Given the description of an element on the screen output the (x, y) to click on. 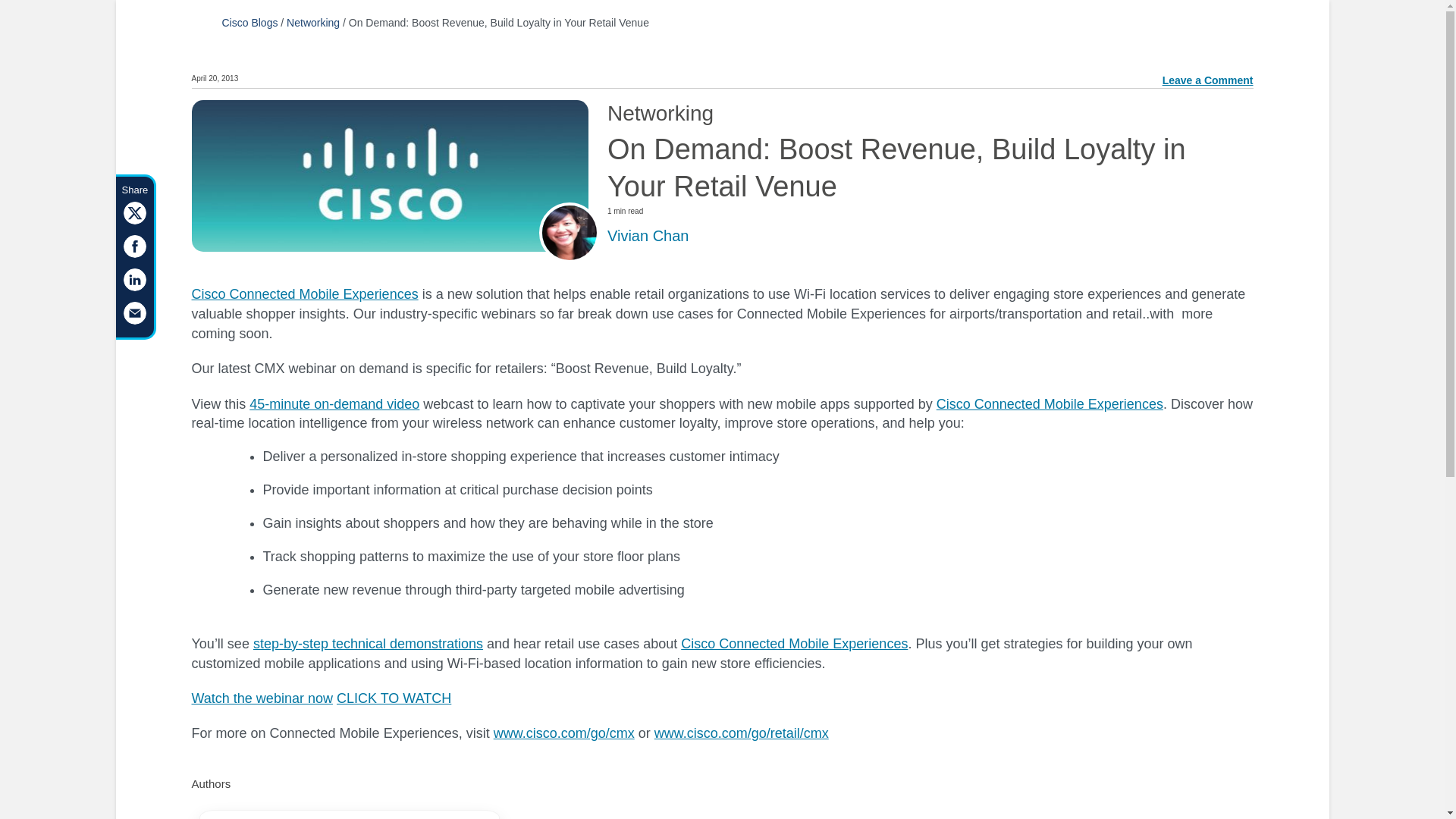
Cisco Connected Mobile Experiences (303, 294)
CLICK TO WATCH (393, 698)
Vivian Chan (647, 235)
Watch the webinar now (260, 698)
45-minute on-demand video (333, 403)
Cisco Connected Mobile Experiences (1049, 403)
Cisco Blogs (249, 22)
step-by-step technical demonstrations (368, 643)
Posts by Vivian Chan (647, 235)
Cisco Connected Mobile Experiences (794, 643)
Networking (312, 22)
